Given the description of an element on the screen output the (x, y) to click on. 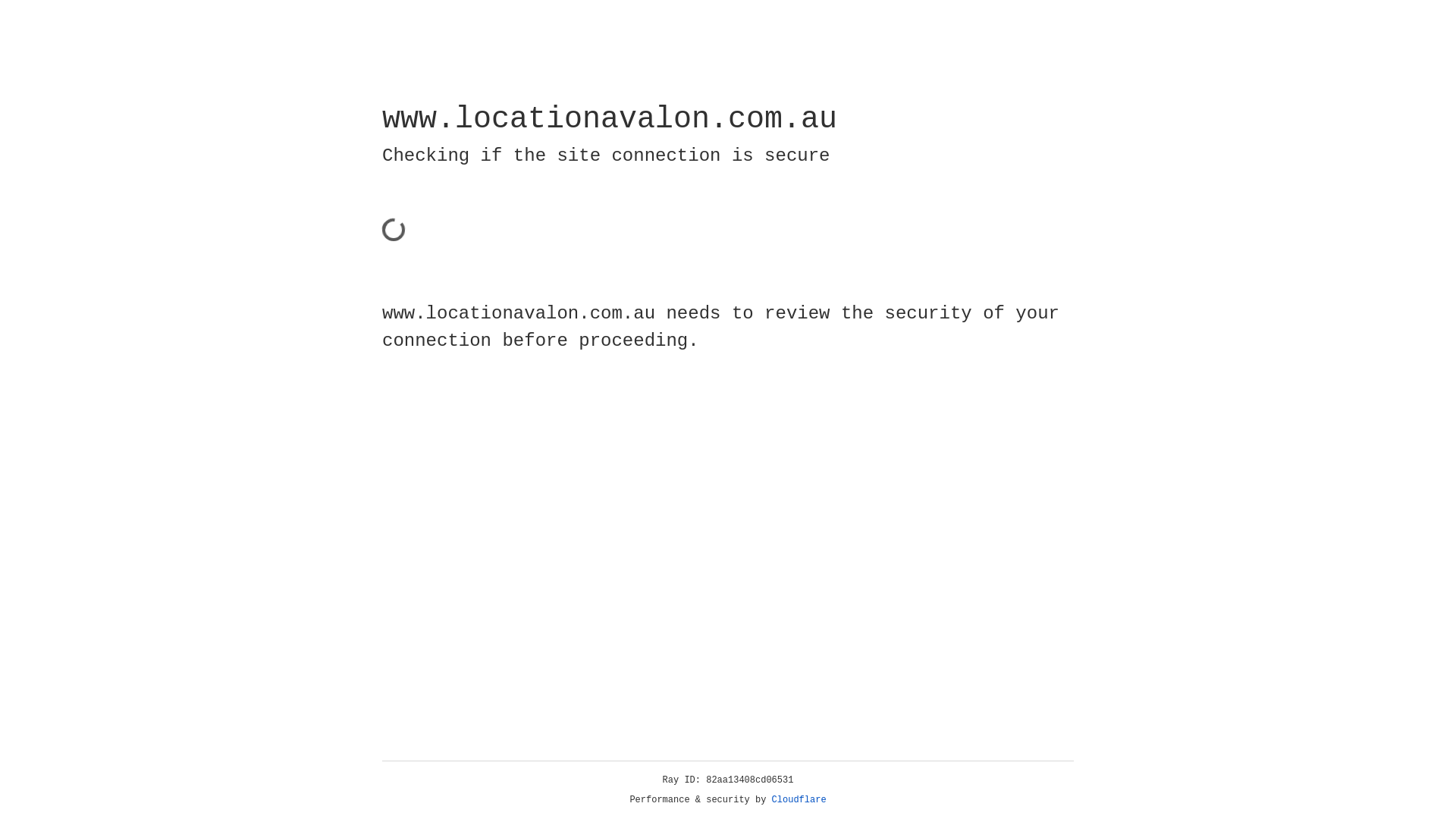
Cloudflare Element type: text (798, 799)
